Given the description of an element on the screen output the (x, y) to click on. 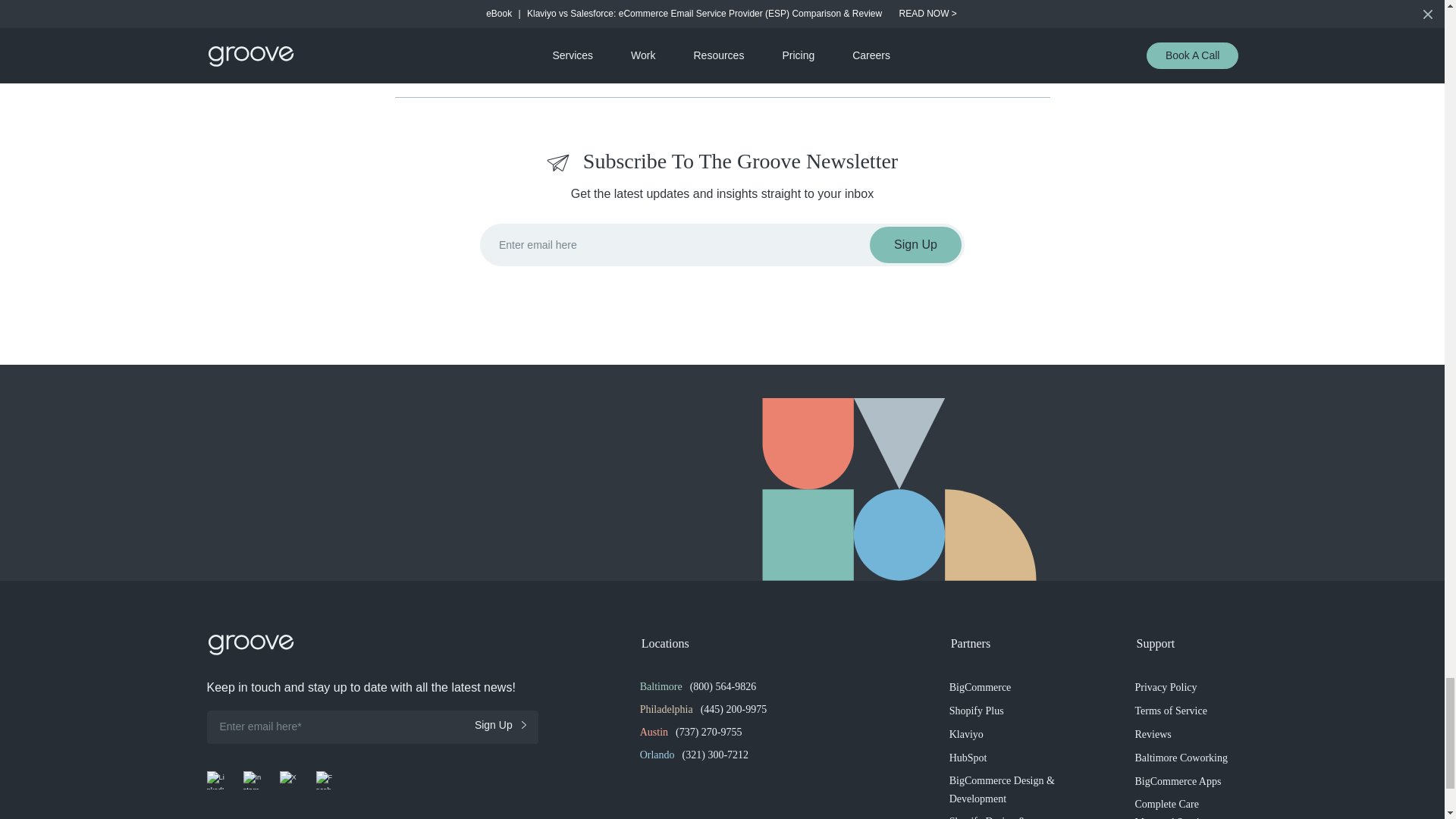
Sign Up (914, 244)
Sign Up (499, 725)
